Given the description of an element on the screen output the (x, y) to click on. 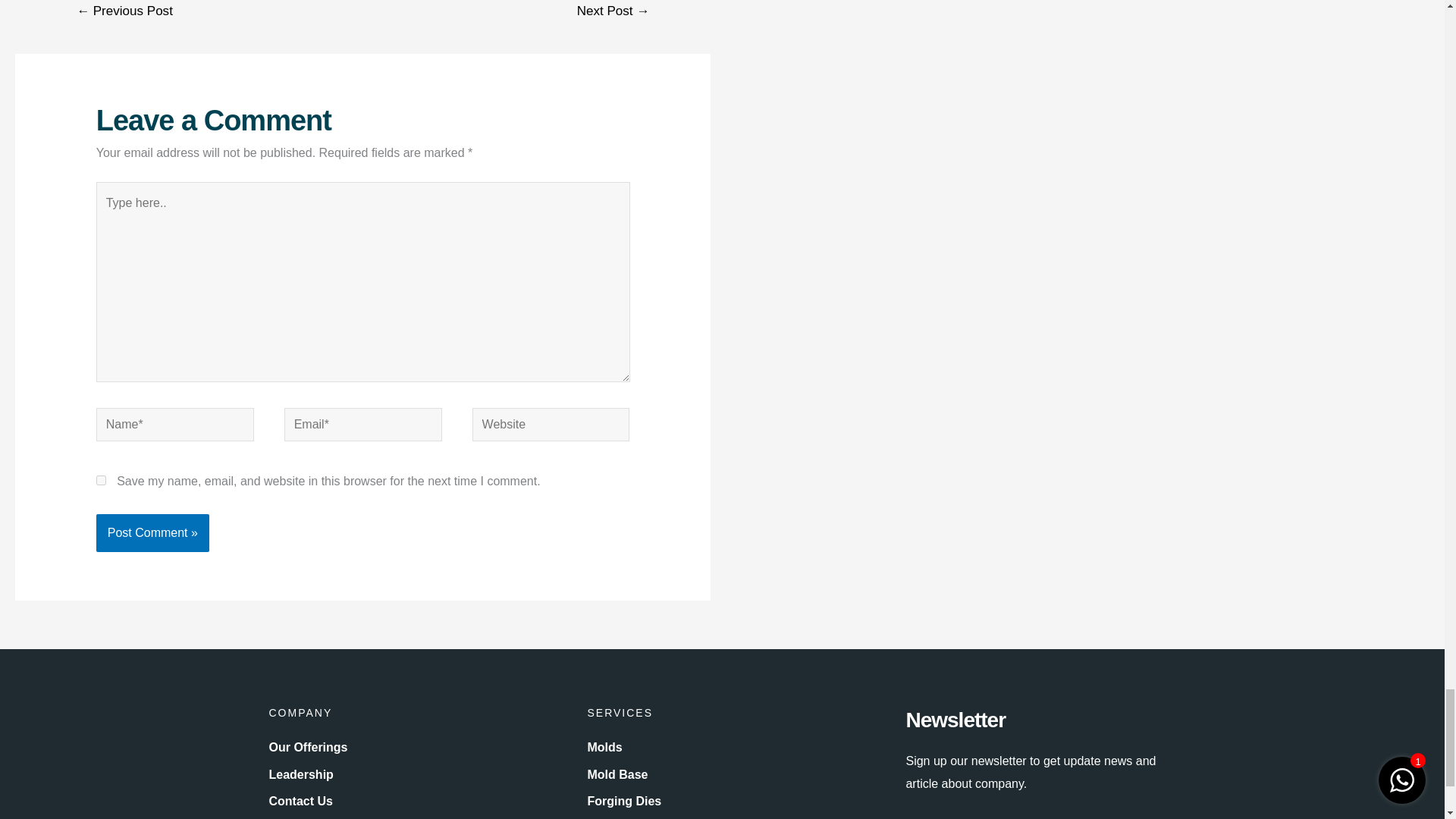
yes (101, 480)
